Given the description of an element on the screen output the (x, y) to click on. 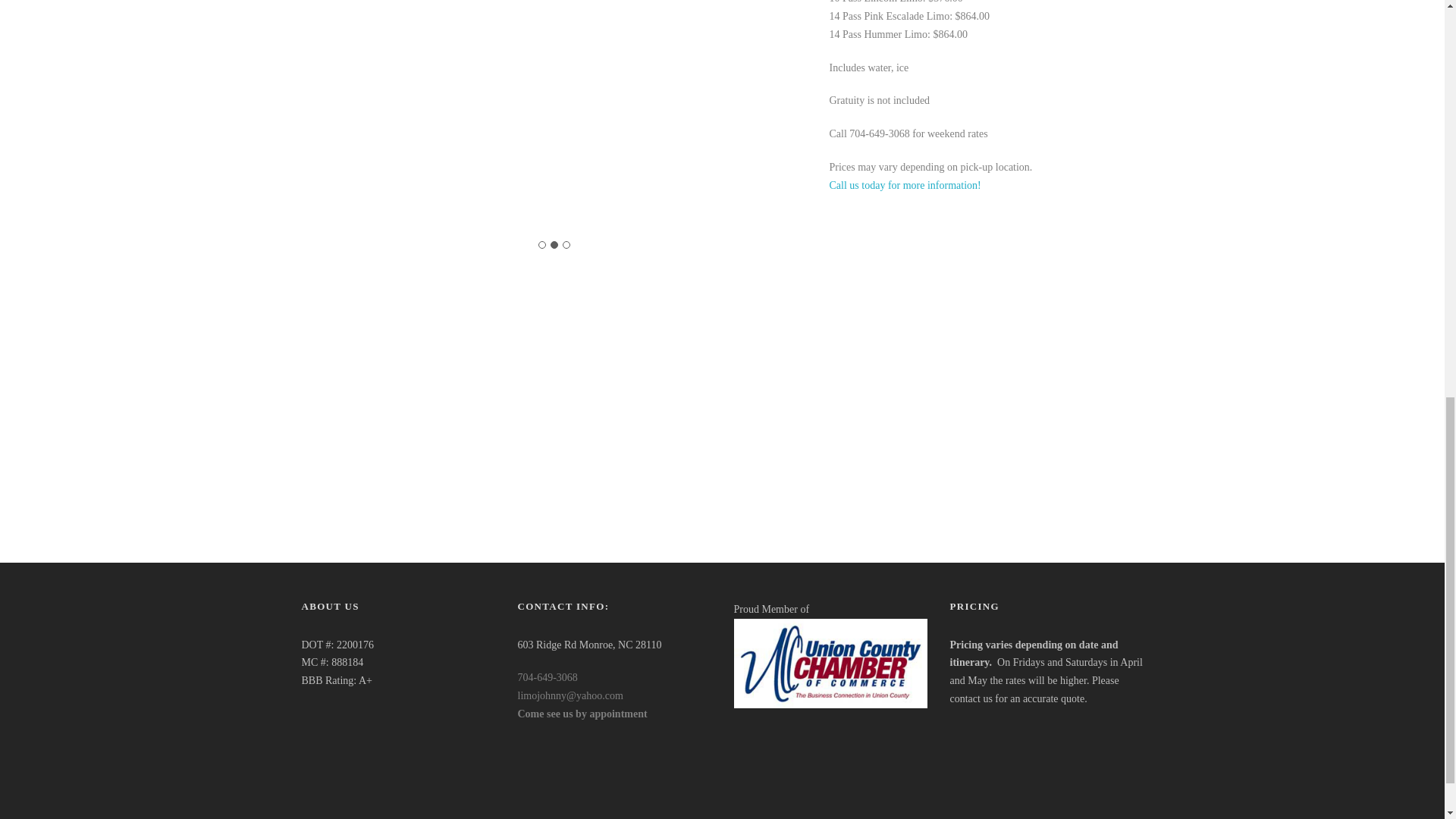
2 (553, 244)
1 (542, 244)
3 (566, 244)
Call us today for more information! (905, 184)
